Given the description of an element on the screen output the (x, y) to click on. 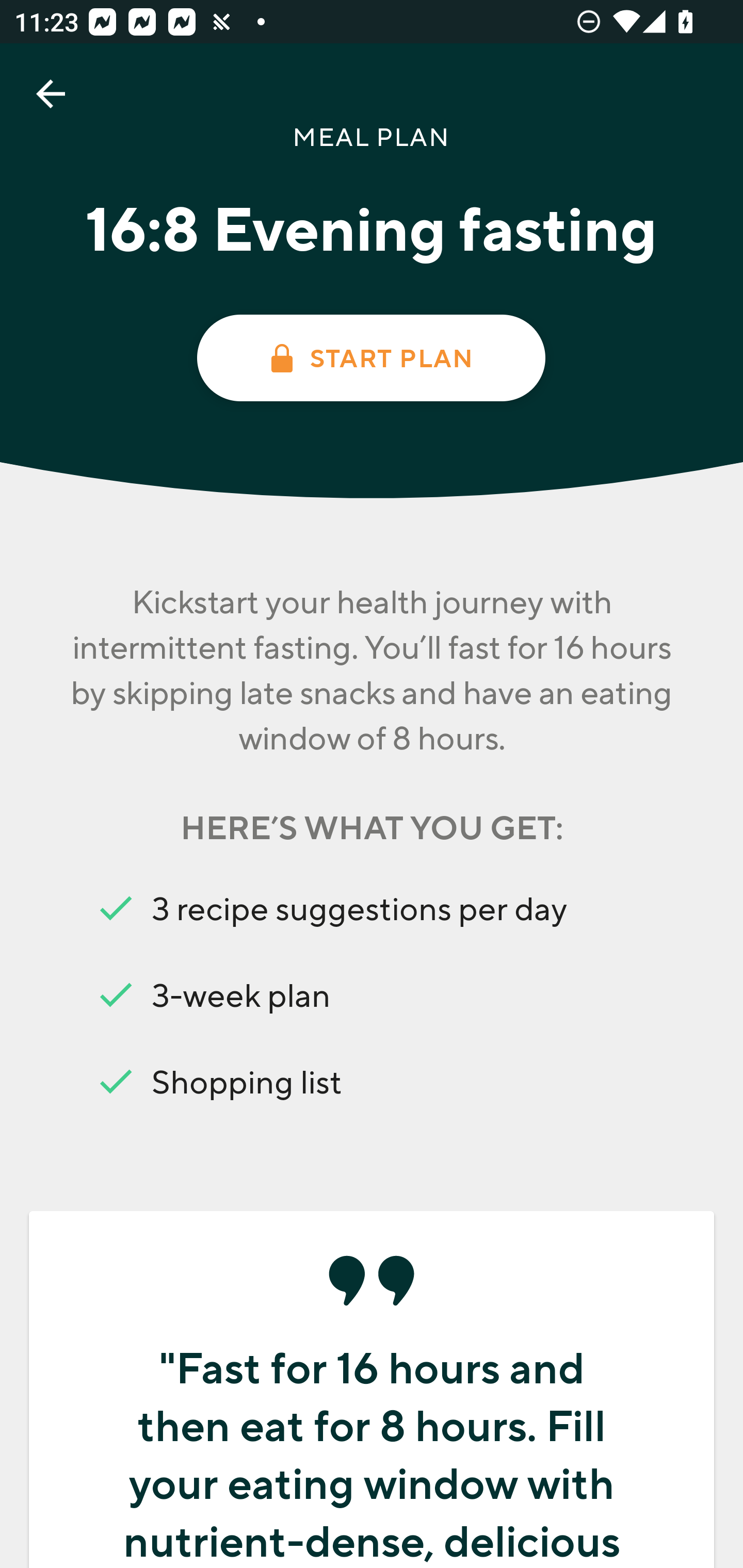
Navigate up (50, 93)
START PLAN (370, 358)
